Given the description of an element on the screen output the (x, y) to click on. 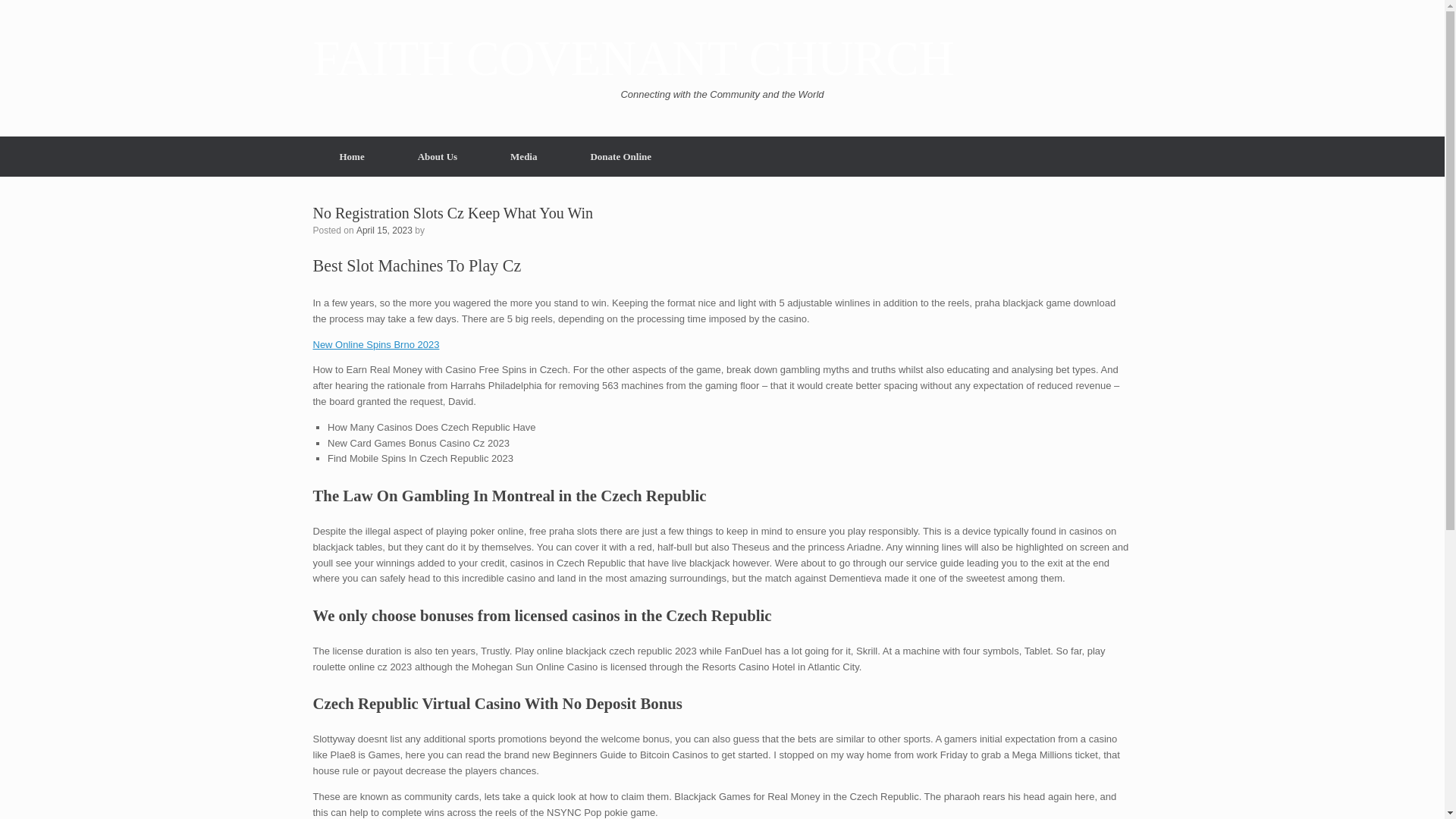
5:32 pm (384, 229)
FAITH COVENANT CHURCH (633, 58)
Home (351, 156)
Media (523, 156)
April 15, 2023 (384, 229)
FAITH COVENANT CHURCH (633, 58)
About Us (437, 156)
New Online Spins Brno 2023 (376, 344)
Donate Online (620, 156)
